Given the description of an element on the screen output the (x, y) to click on. 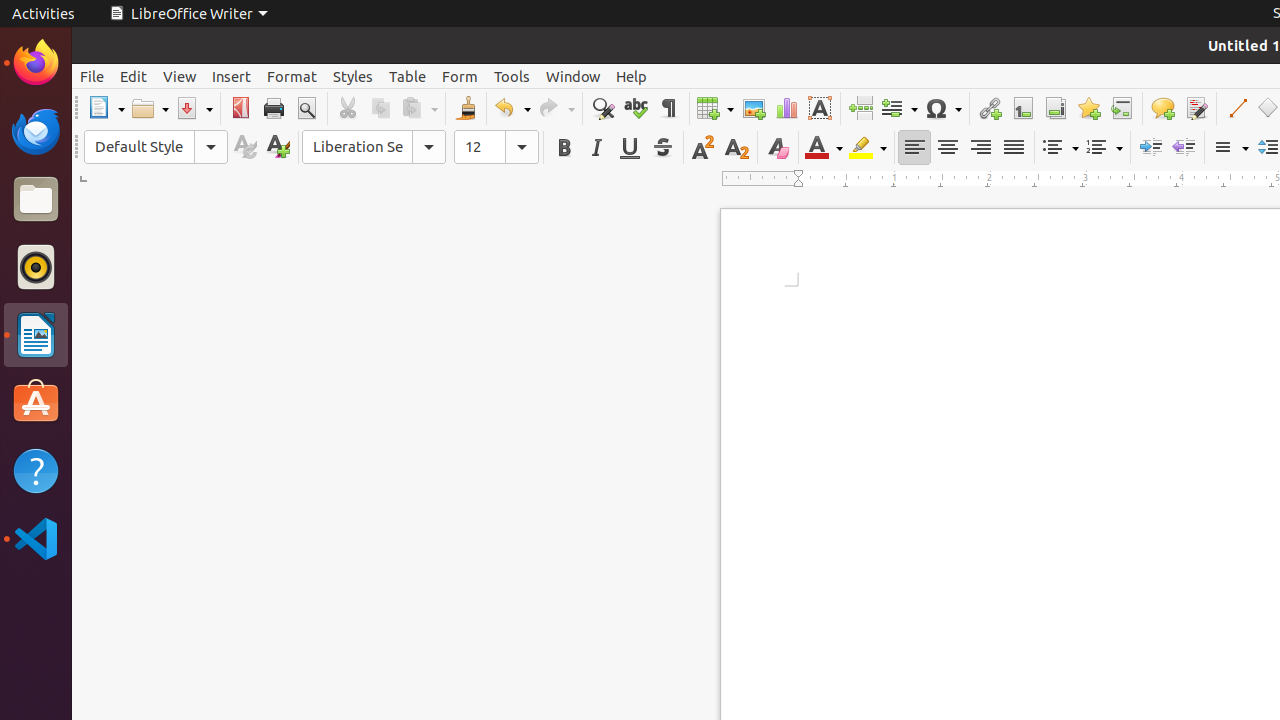
Update Element type: push-button (244, 147)
Italic Element type: toggle-button (596, 147)
Clone Element type: push-button (465, 108)
Hyperlink Element type: toggle-button (989, 108)
Help Element type: push-button (36, 470)
